Given the description of an element on the screen output the (x, y) to click on. 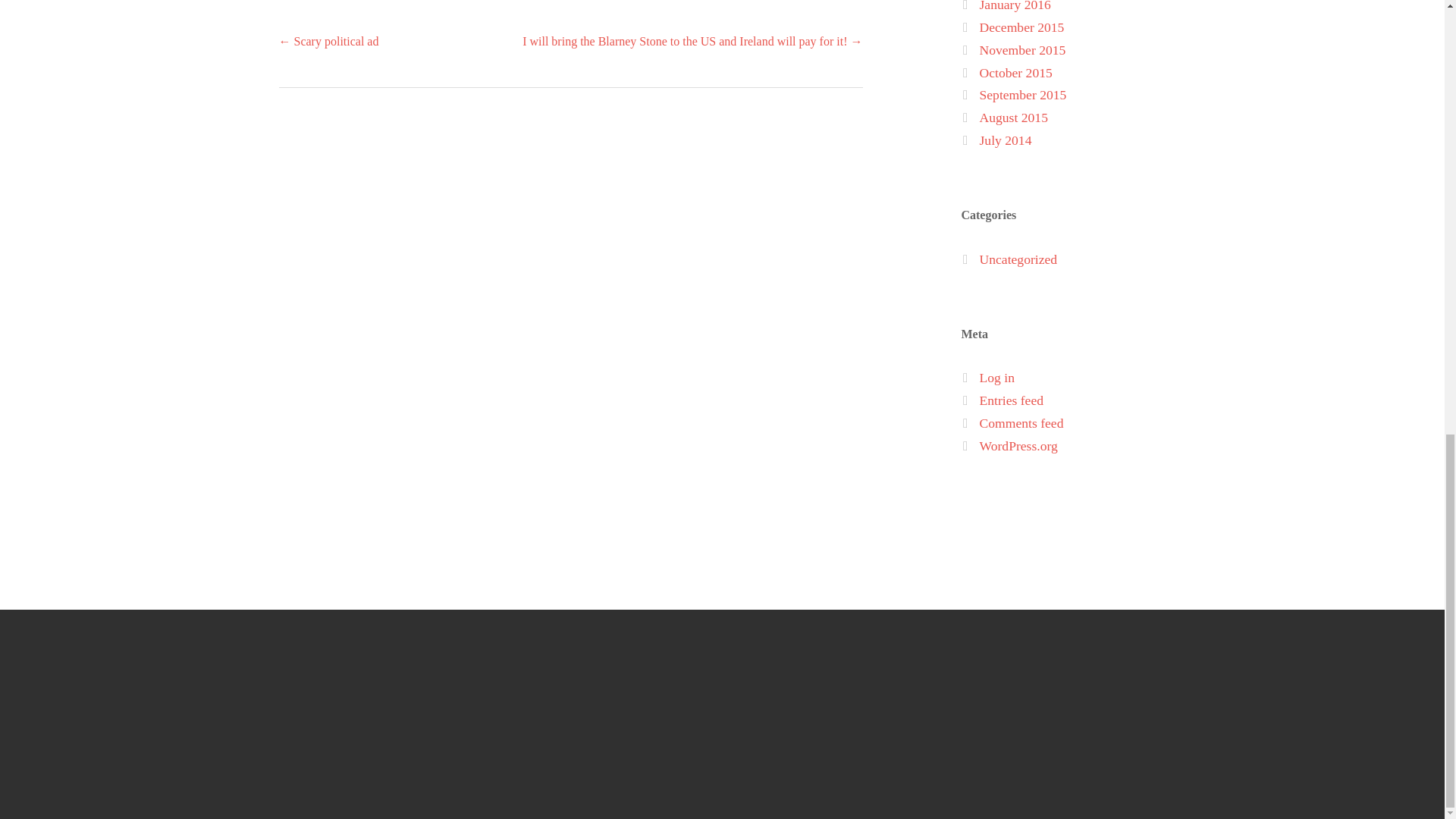
November 2015 (1022, 49)
Log in (996, 377)
Uncategorized (1018, 258)
August 2015 (1013, 117)
January 2016 (1015, 6)
December 2015 (1021, 27)
October 2015 (1015, 72)
July 2014 (1005, 140)
September 2015 (1023, 94)
